Given the description of an element on the screen output the (x, y) to click on. 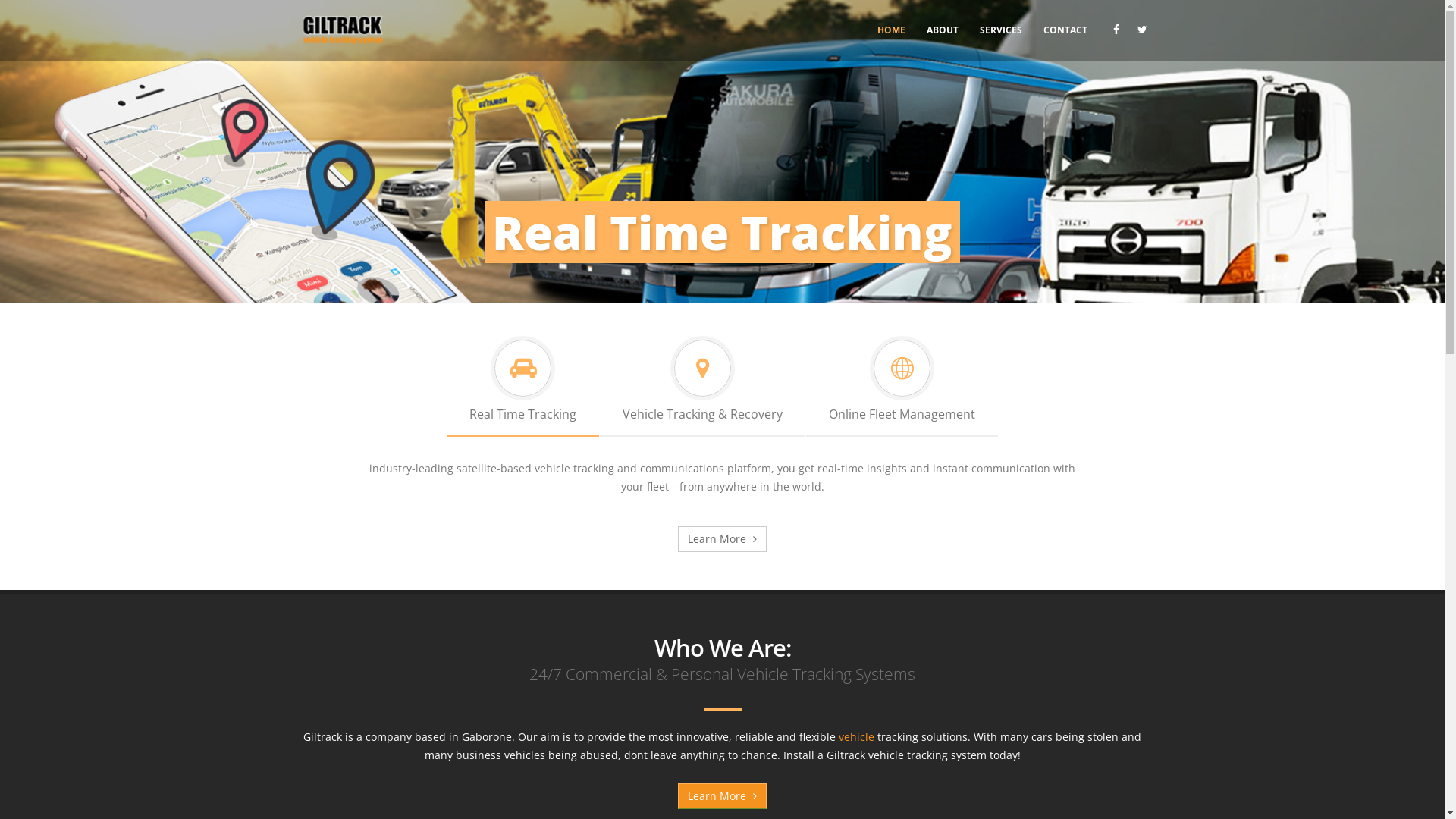
Online Fleet Management Element type: text (901, 382)
Learn More Element type: text (721, 796)
Vehicle Tracking & Recovery Element type: text (702, 382)
Facebook Element type: hover (1115, 29)
Learn More Element type: text (721, 539)
Real Time Tracking Element type: text (522, 382)
Twitter Element type: hover (1142, 29)
vehicle Element type: text (856, 736)
